Given the description of an element on the screen output the (x, y) to click on. 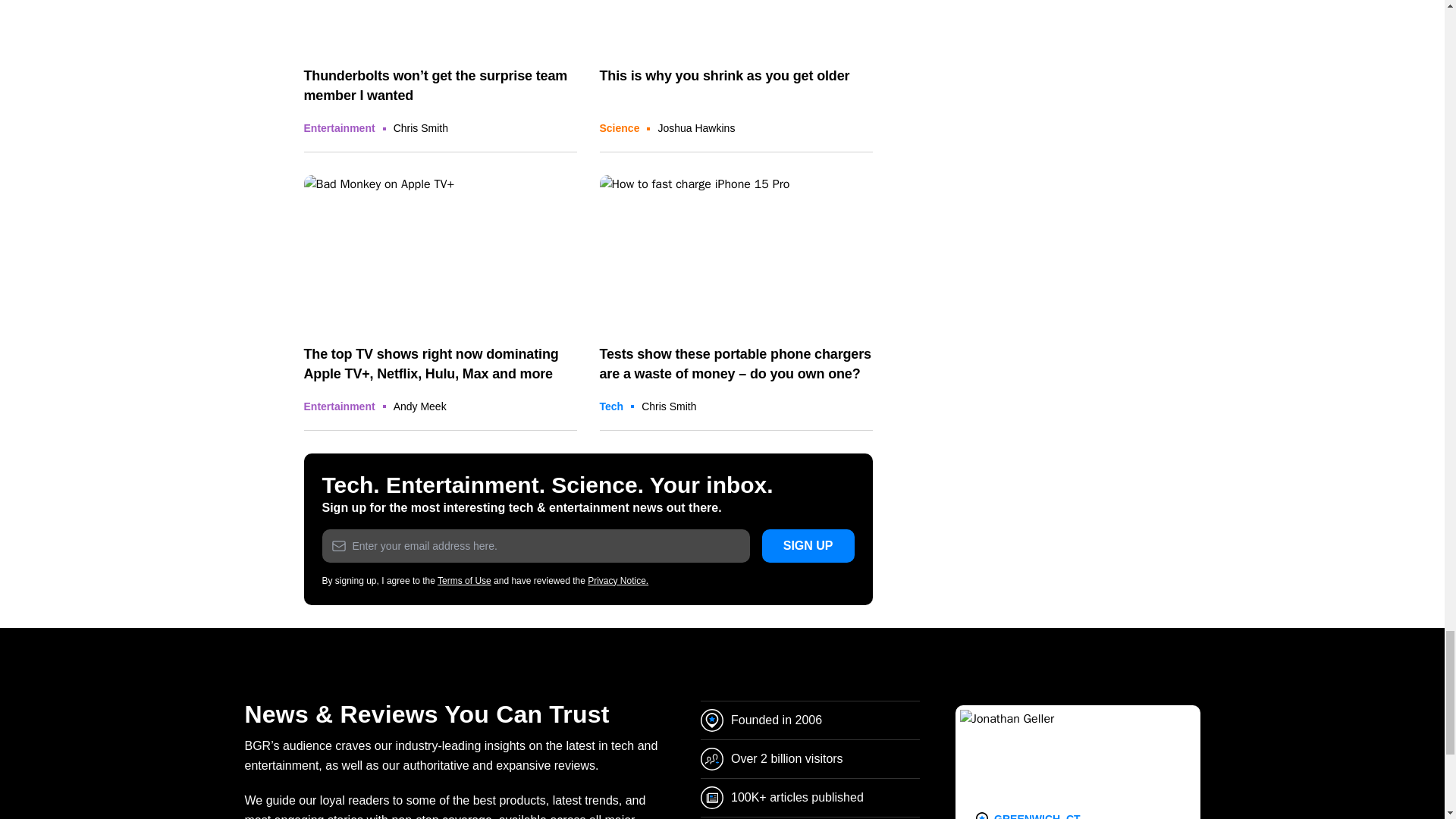
Posts by Joshua Hawkins (696, 128)
Portable Phone Chargers (735, 252)
Posts by Chris Smith (420, 128)
TV shows (439, 252)
Posts by Andy Meek (419, 406)
Thunderbolts (439, 25)
why humans shrink (735, 25)
